Given the description of an element on the screen output the (x, y) to click on. 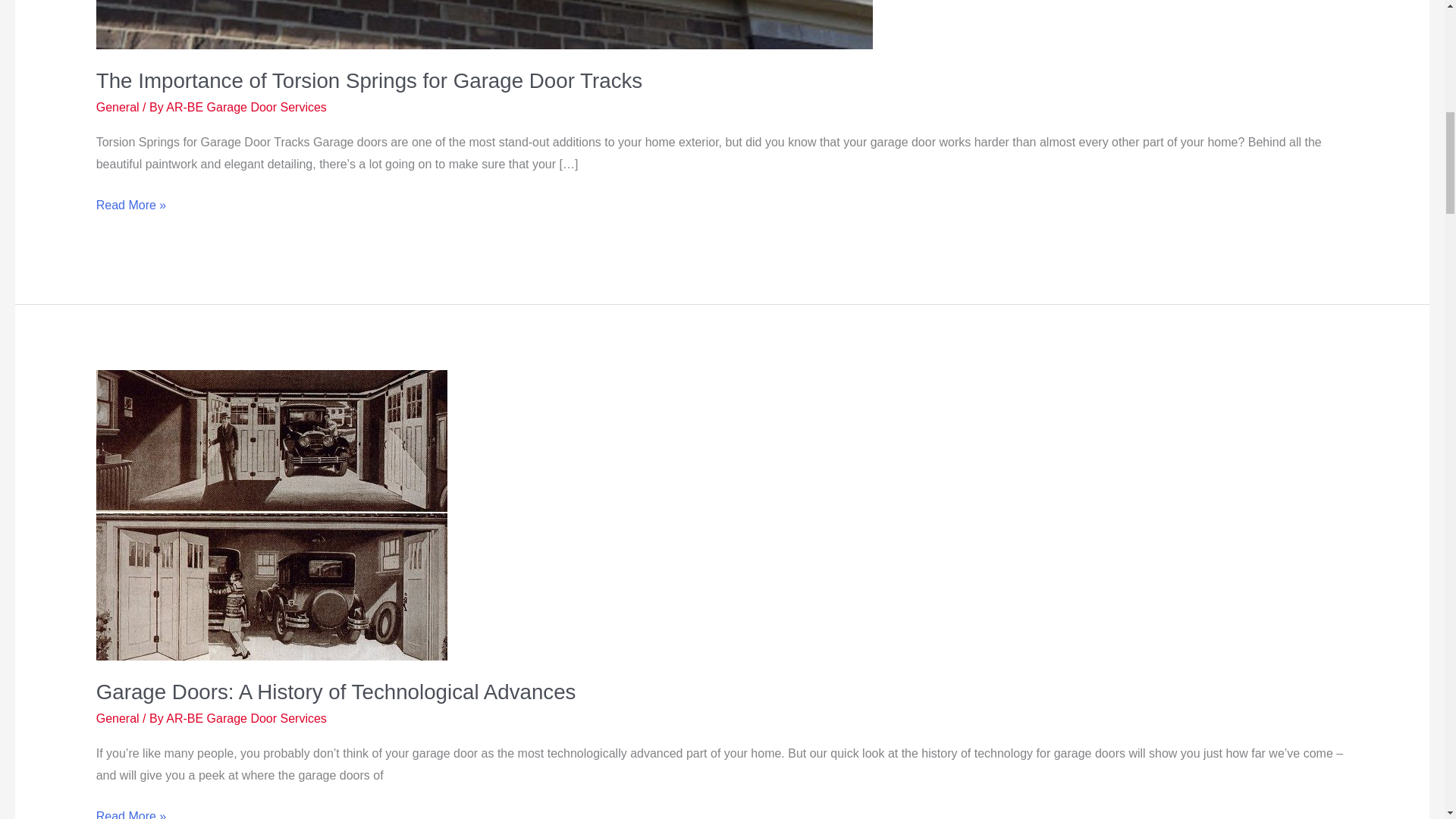
General (117, 106)
Garage Doors: A History of Technological Advances (336, 691)
AR-BE Garage Door Services (245, 106)
View all posts by AR-BE Garage Door Services (245, 106)
AR-BE Garage Door Services (245, 717)
View all posts by AR-BE Garage Door Services (245, 717)
General (117, 717)
The Importance of Torsion Springs for Garage Door Tracks (369, 80)
